Given the description of an element on the screen output the (x, y) to click on. 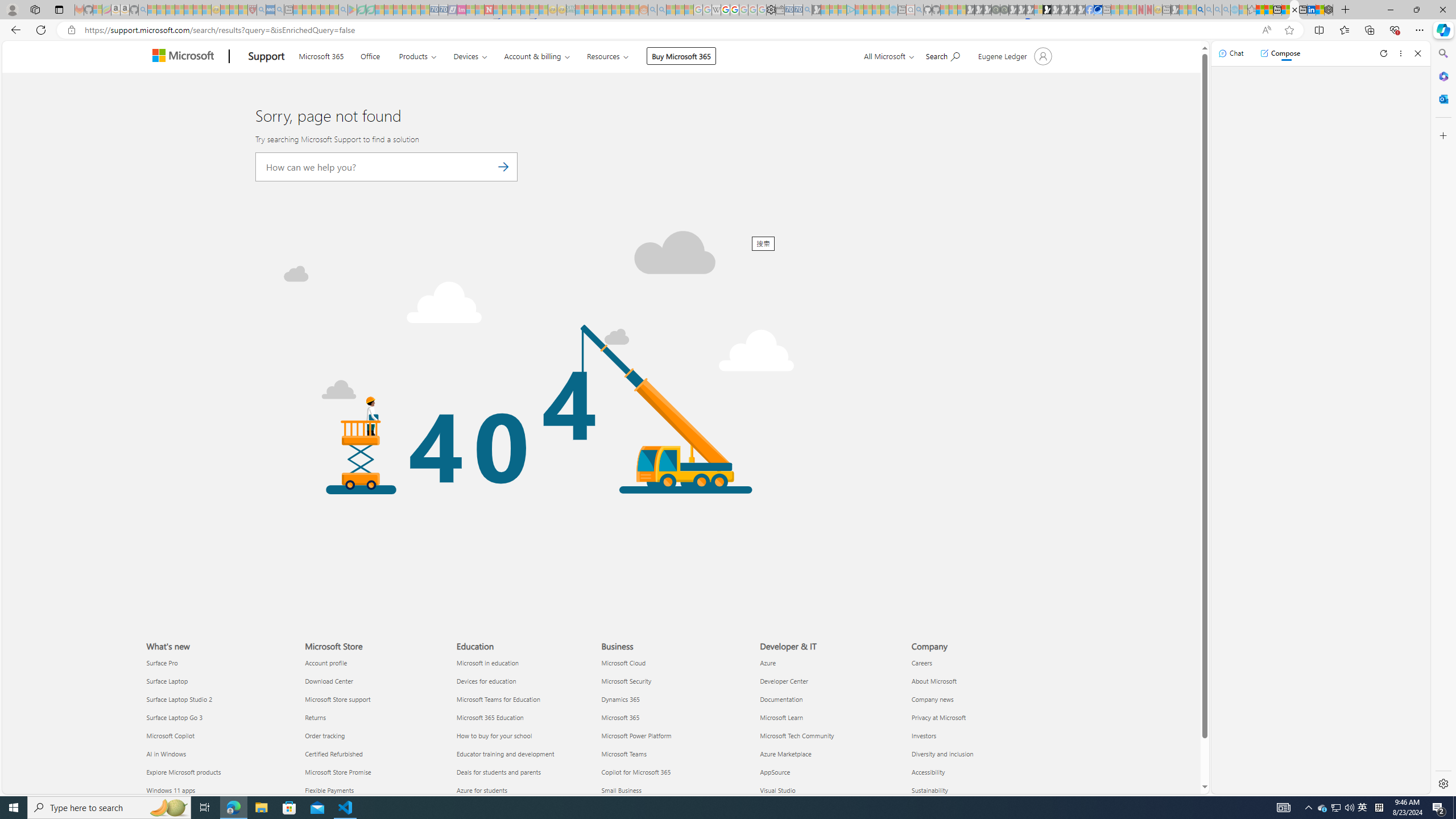
About Microsoft (980, 680)
Surface Laptop (218, 680)
Documentation (829, 698)
Microsoft Power Platform (673, 735)
Copilot for Microsoft 365 Business (636, 771)
Dynamics 365 (673, 698)
Accessibility Company (927, 771)
Microsoft Tech Community Developer & IT (797, 734)
Compose (1279, 52)
Terms of Use Agreement - Sleeping (361, 9)
